Given the description of an element on the screen output the (x, y) to click on. 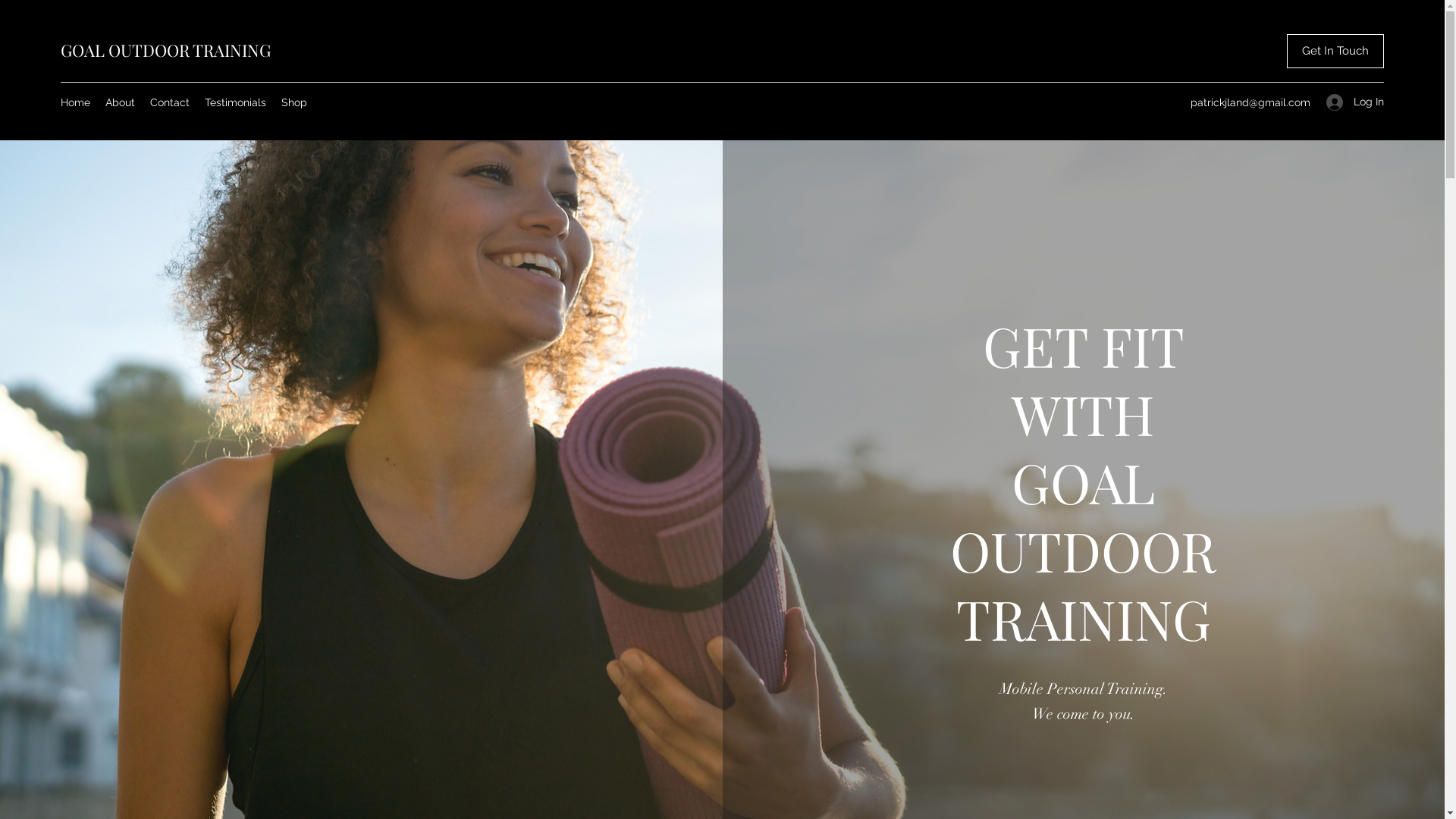
Log In Element type: text (1349, 101)
Contact Element type: text (169, 102)
Shop Element type: text (293, 102)
GOAL OUTDOOR TRAINING Element type: text (165, 49)
Home Element type: text (75, 102)
Testimonials Element type: text (235, 102)
patrickjland@gmail.com Element type: text (1250, 102)
Get In Touch Element type: text (1334, 51)
About Element type: text (119, 102)
